Given the description of an element on the screen output the (x, y) to click on. 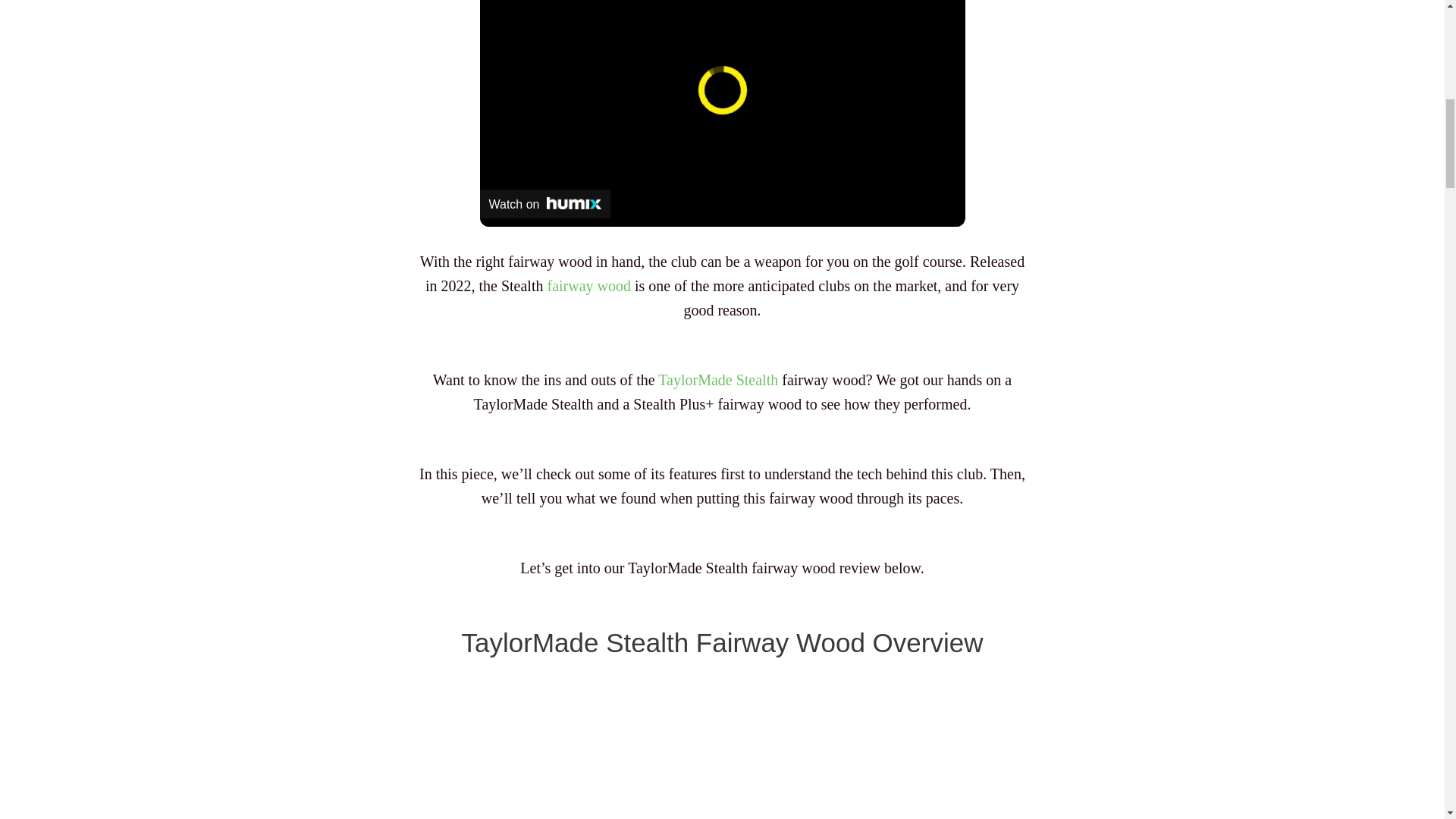
share (933, 2)
